Given the description of an element on the screen output the (x, y) to click on. 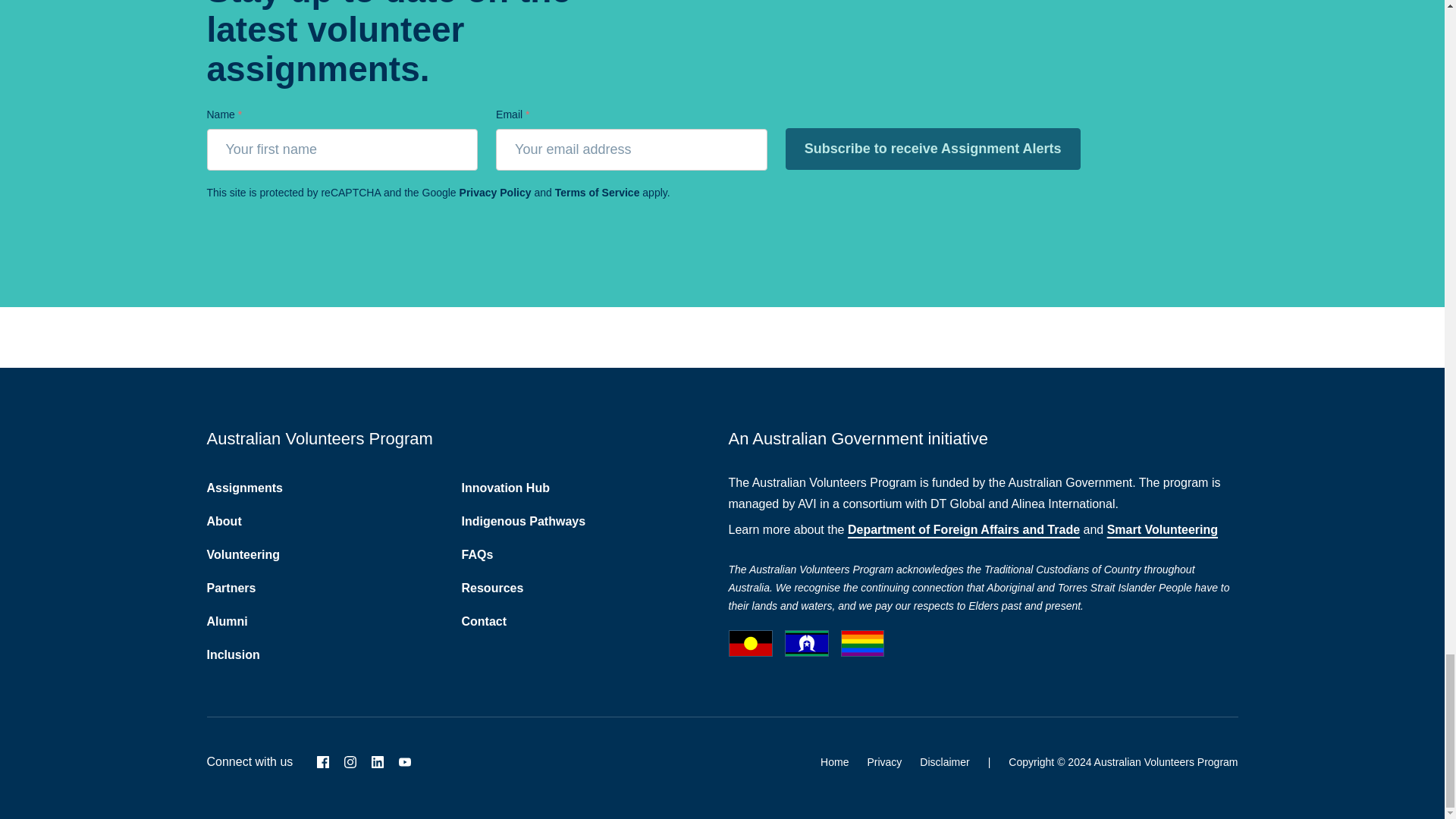
Privacy Policy (495, 192)
Alumni (226, 621)
Volunteering (242, 554)
Assignments (244, 487)
Partners (231, 587)
Terms of Service (597, 192)
Subscribe to receive Assignment Alerts (933, 148)
About (223, 521)
